Given the description of an element on the screen output the (x, y) to click on. 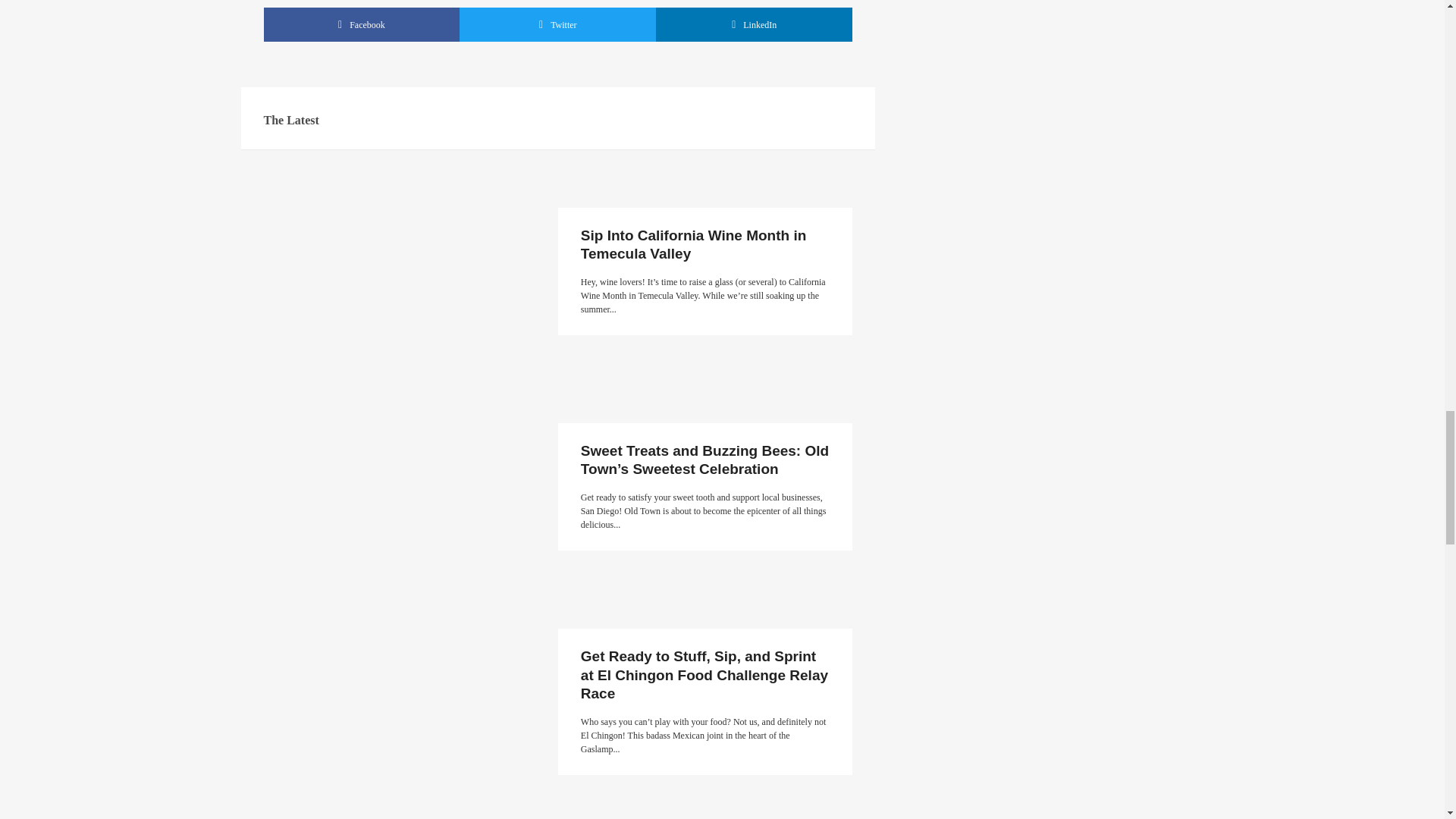
LinkedIn (753, 24)
Sip Into California Wine Month in Temecula Valley (693, 244)
Twitter (558, 24)
Facebook (361, 24)
